Given the description of an element on the screen output the (x, y) to click on. 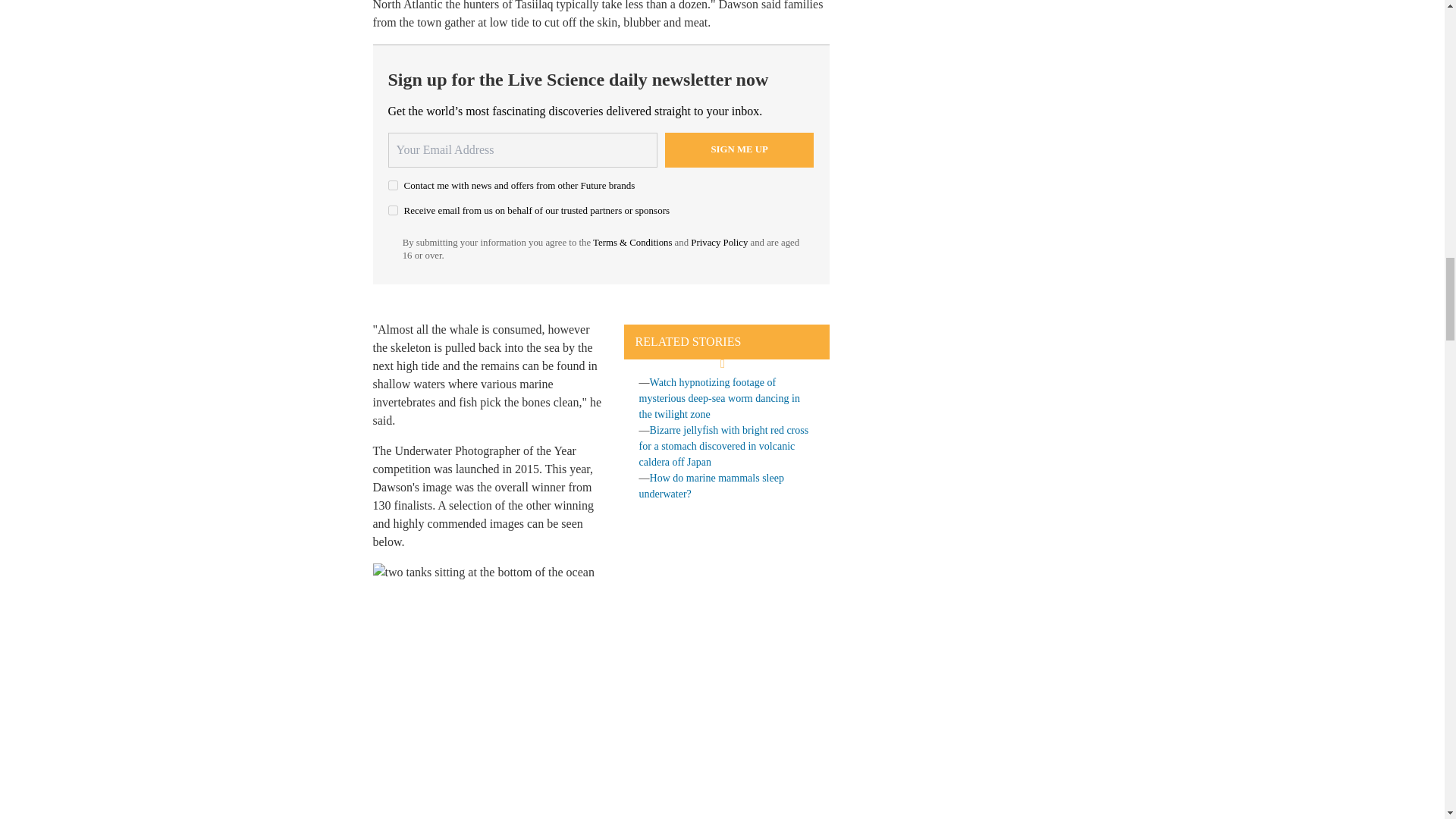
on (392, 185)
on (392, 210)
Sign me up (739, 149)
